Given the description of an element on the screen output the (x, y) to click on. 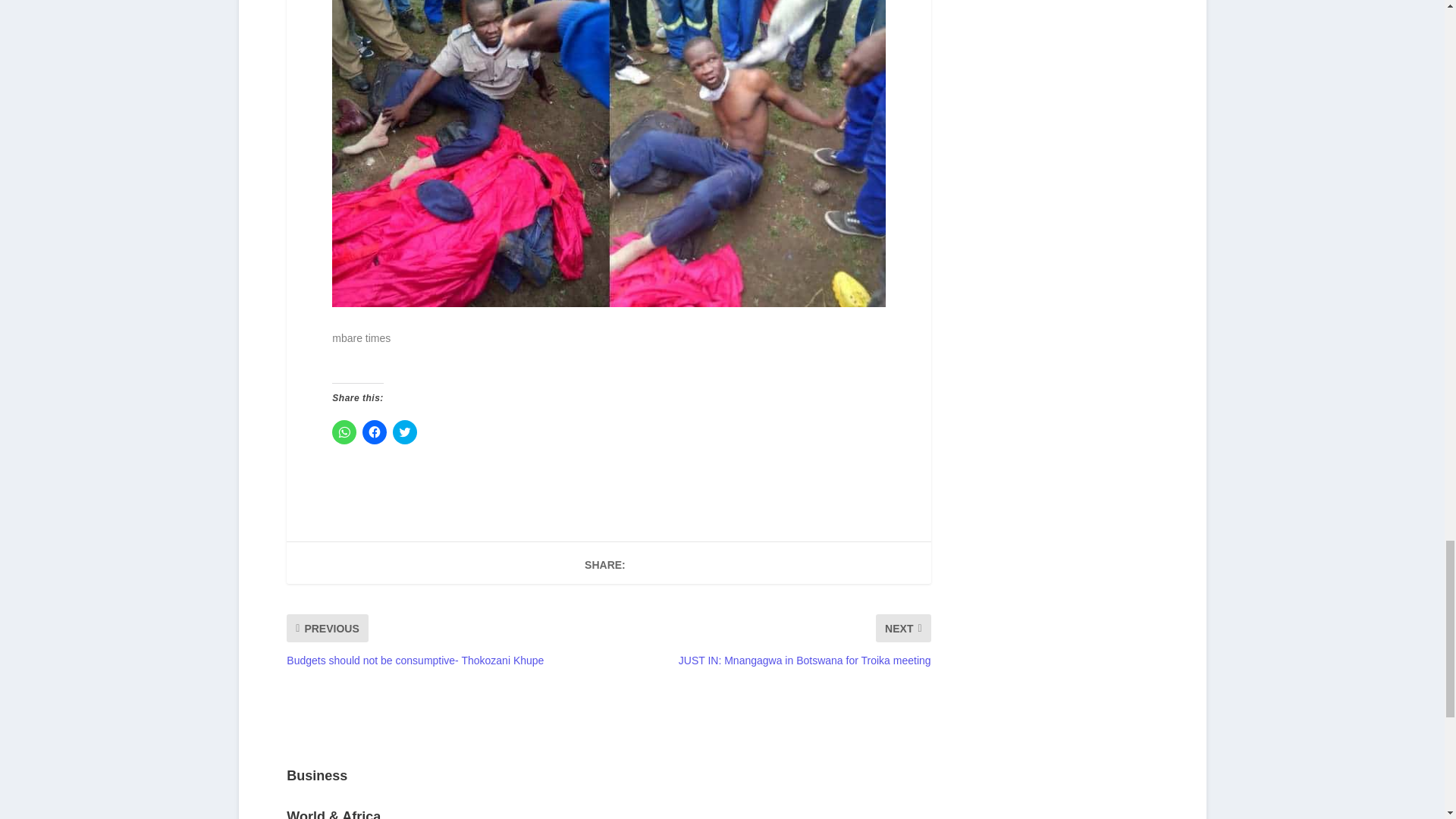
Click to share on Facebook (374, 432)
Click to share on Twitter (404, 432)
Click to share on WhatsApp (343, 432)
